Given the description of an element on the screen output the (x, y) to click on. 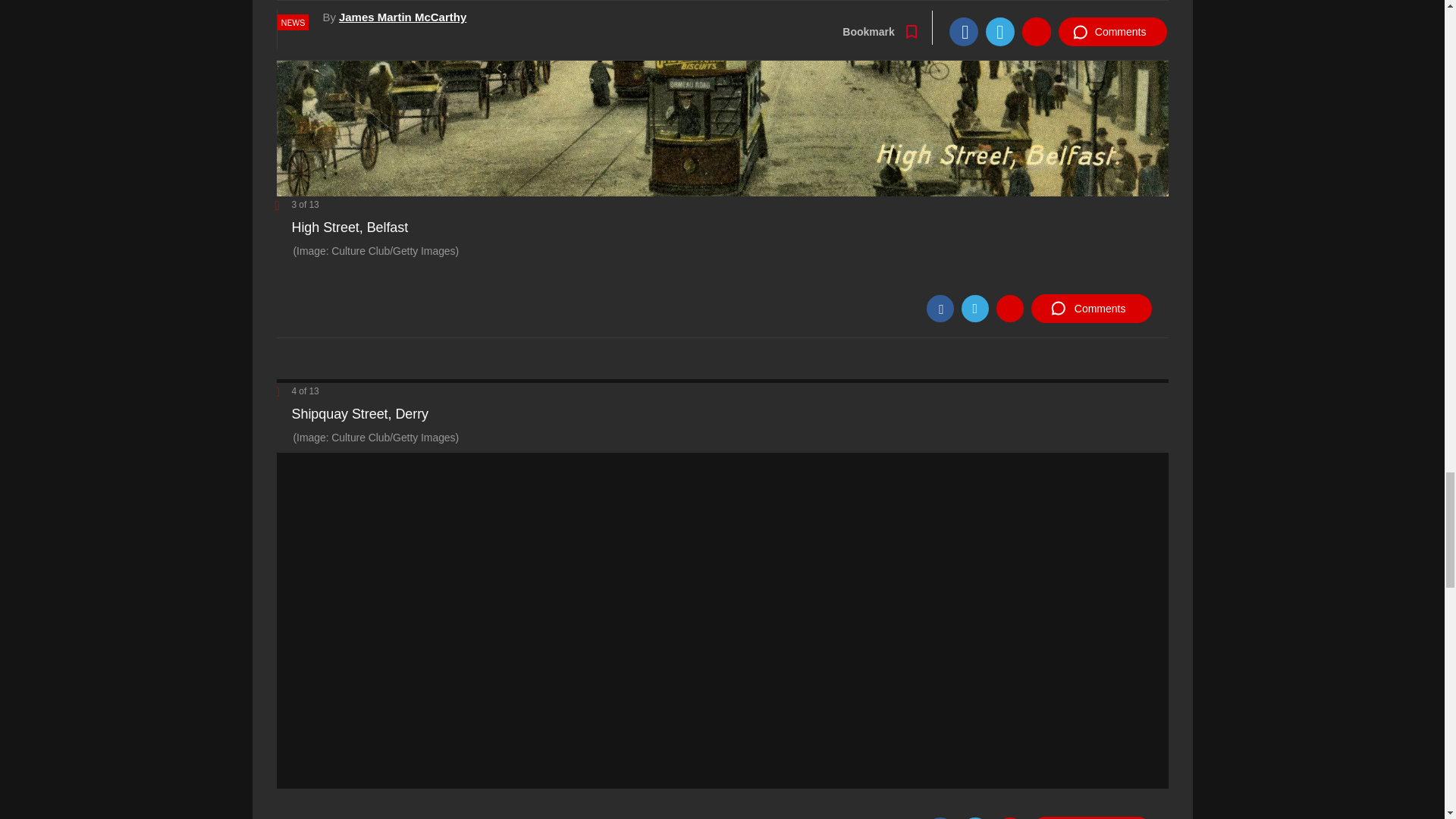
Facebook (939, 308)
Comments (1090, 308)
Twitter (974, 308)
